Given the description of an element on the screen output the (x, y) to click on. 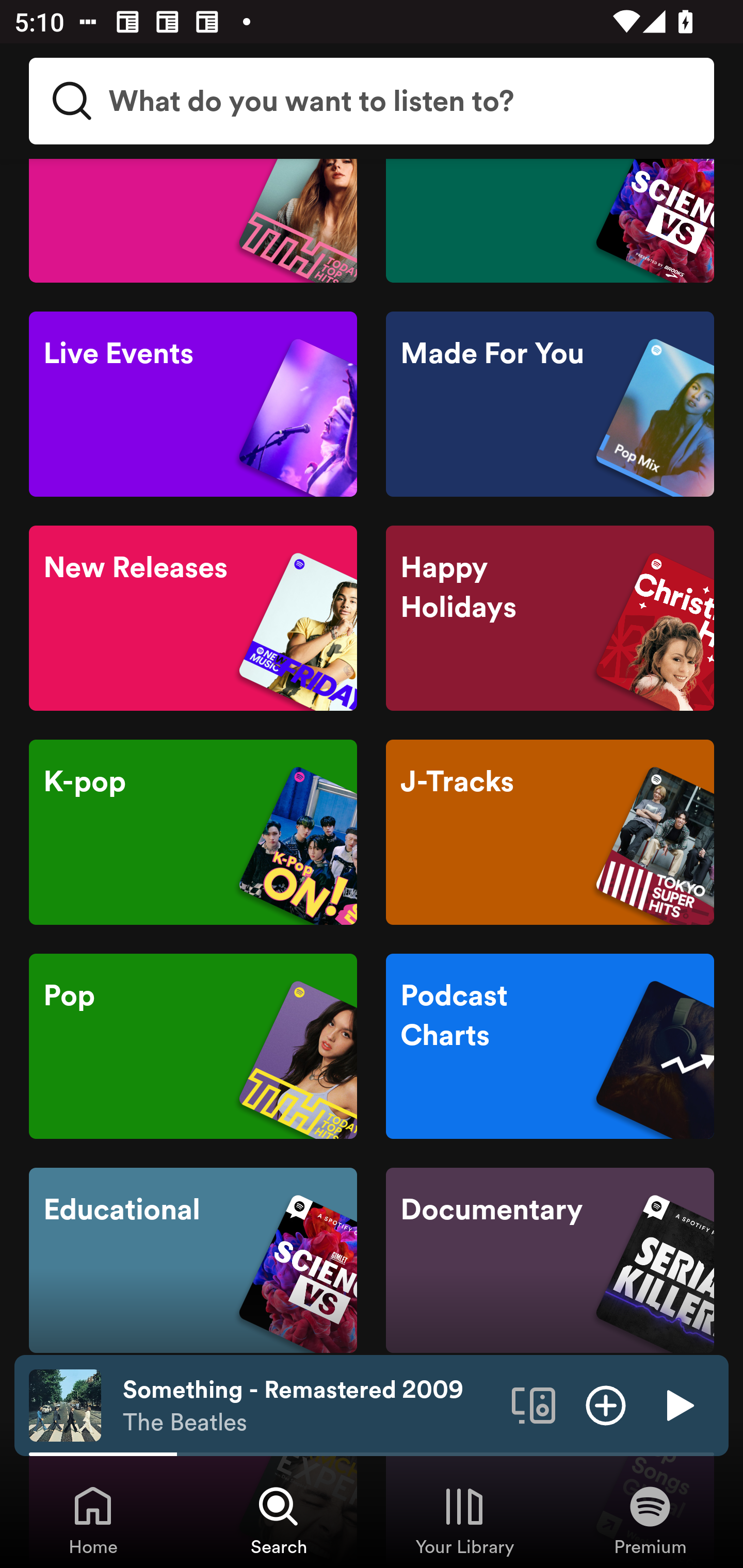
Music (192, 220)
Podcasts (549, 220)
Live Events (192, 404)
Made For You (549, 404)
New Releases (192, 617)
Happy Holidays (549, 617)
K-pop (192, 832)
J-Tracks (549, 832)
Pop (192, 1045)
Podcast Charts (549, 1045)
Educational (192, 1260)
Documentary (549, 1260)
Something - Remastered 2009 The Beatles (309, 1405)
The cover art of the currently playing track (64, 1404)
Connect to a device. Opens the devices menu (533, 1404)
Add item (605, 1404)
Play (677, 1404)
Home, Tab 1 of 4 Home Home (92, 1519)
Search, Tab 2 of 4 Search Search (278, 1519)
Your Library, Tab 3 of 4 Your Library Your Library (464, 1519)
Premium, Tab 4 of 4 Premium Premium (650, 1519)
